Given the description of an element on the screen output the (x, y) to click on. 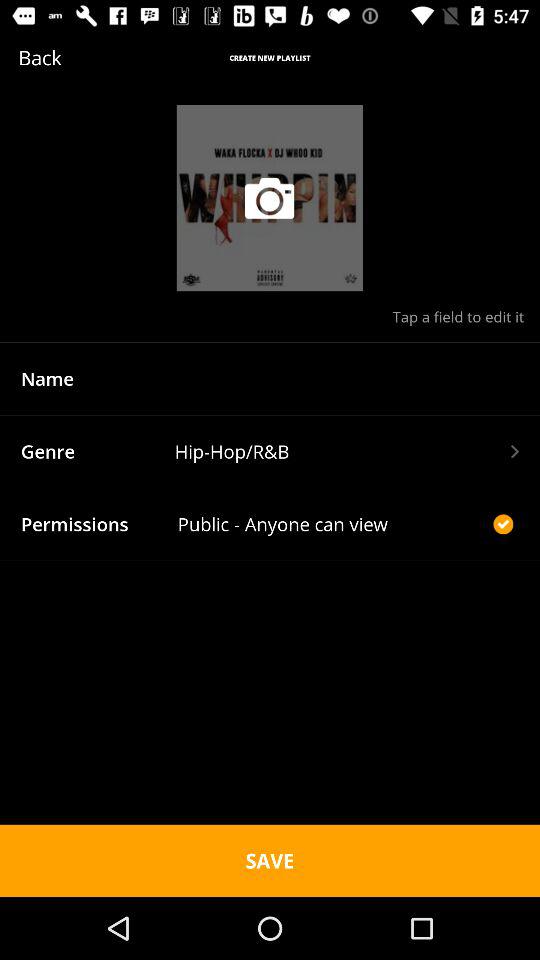
tap the icon to the left of create new playlist icon (70, 57)
